Given the description of an element on the screen output the (x, y) to click on. 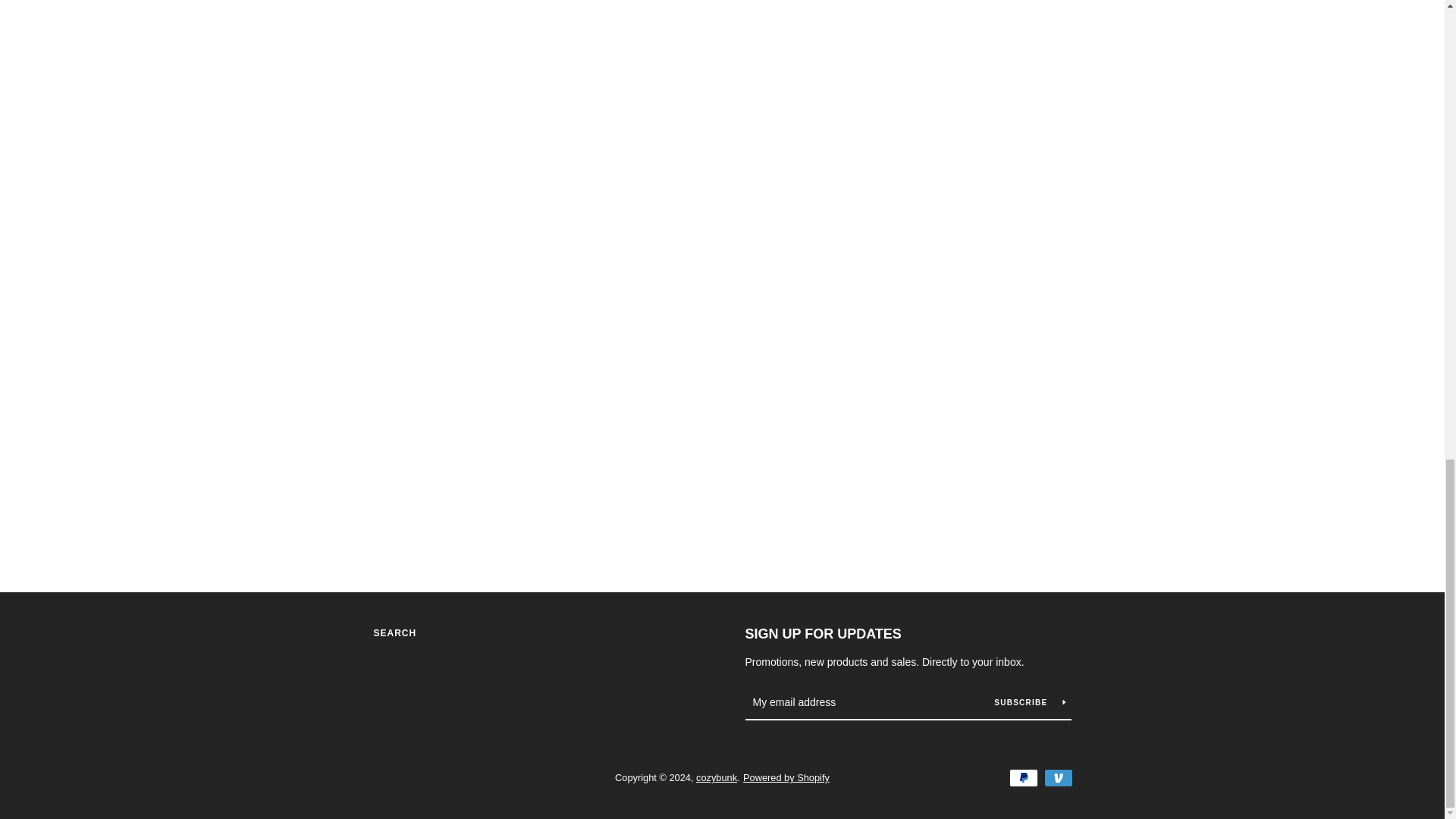
Powered by Shopify (785, 777)
SUBSCRIBE (1029, 702)
Venmo (1057, 778)
SEARCH (394, 633)
PayPal (1022, 778)
cozybunk (715, 777)
